Given the description of an element on the screen output the (x, y) to click on. 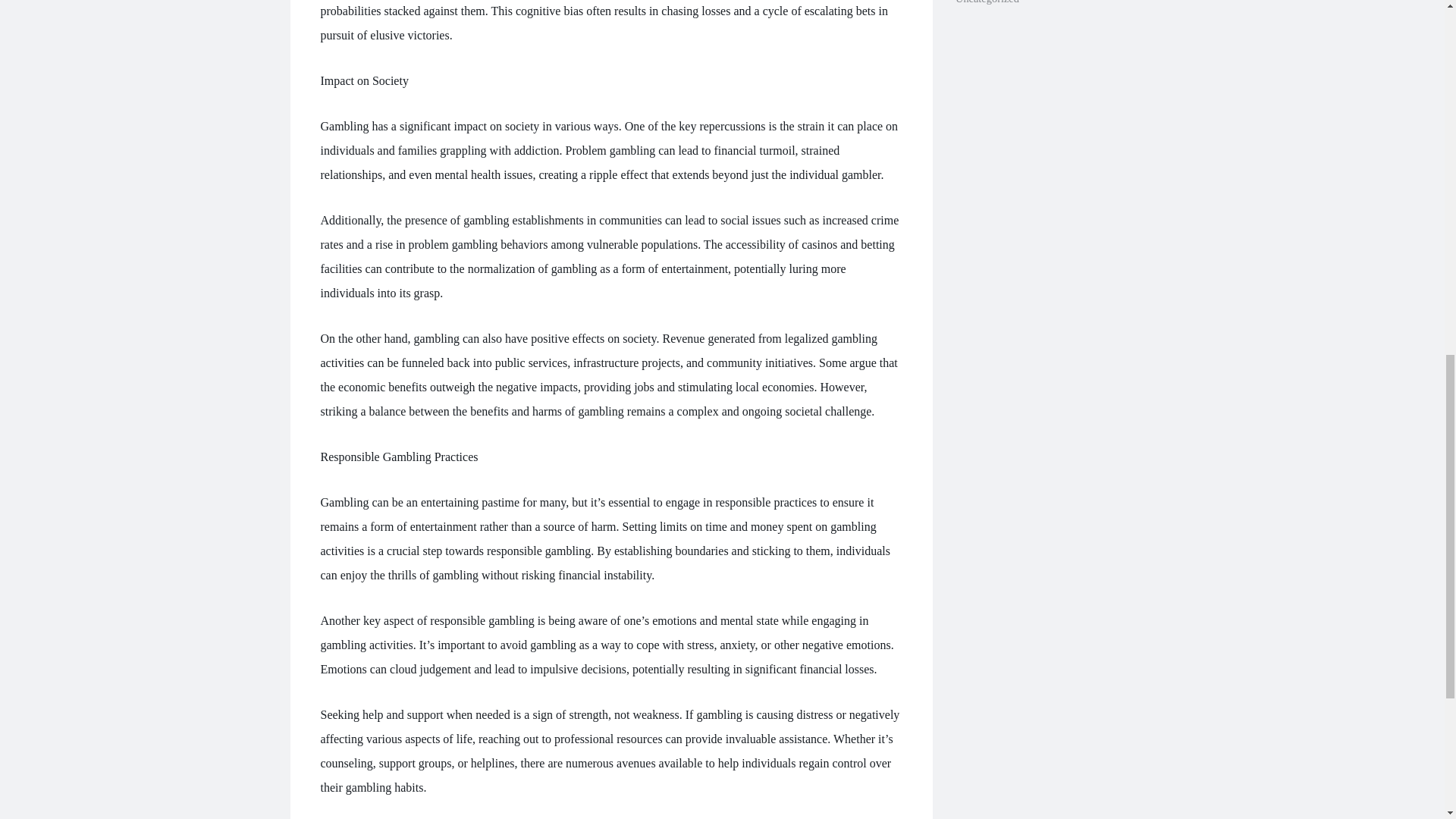
Uncategorized (987, 2)
